Given the description of an element on the screen output the (x, y) to click on. 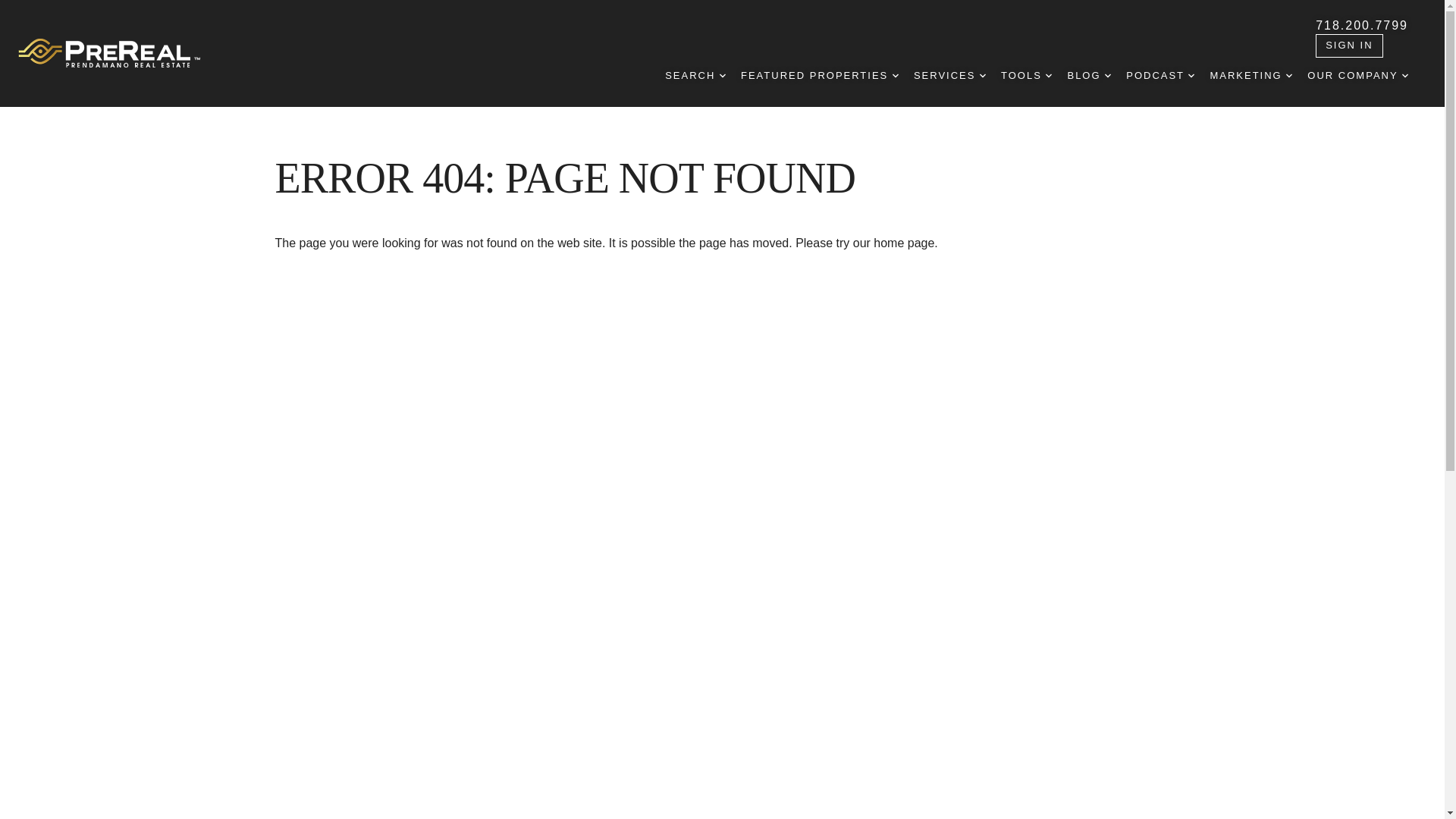
SERVICES DROPDOWN ARROW (949, 75)
TOOLS DROPDOWN ARROW (1026, 75)
DROPDOWN ARROW (1404, 75)
SIGN IN (1348, 45)
DROPDOWN ARROW (1107, 75)
SEARCH DROPDOWN ARROW (695, 75)
DROPDOWN ARROW (895, 75)
DROPDOWN ARROW (1190, 75)
DROPDOWN ARROW (982, 75)
FEATURED PROPERTIES DROPDOWN ARROW (819, 75)
DROPDOWN ARROW (1048, 75)
DROPDOWN ARROW (722, 75)
BLOG DROPDOWN ARROW (1088, 75)
PODCAST DROPDOWN ARROW (1159, 75)
DROPDOWN ARROW (1288, 75)
